Given the description of an element on the screen output the (x, y) to click on. 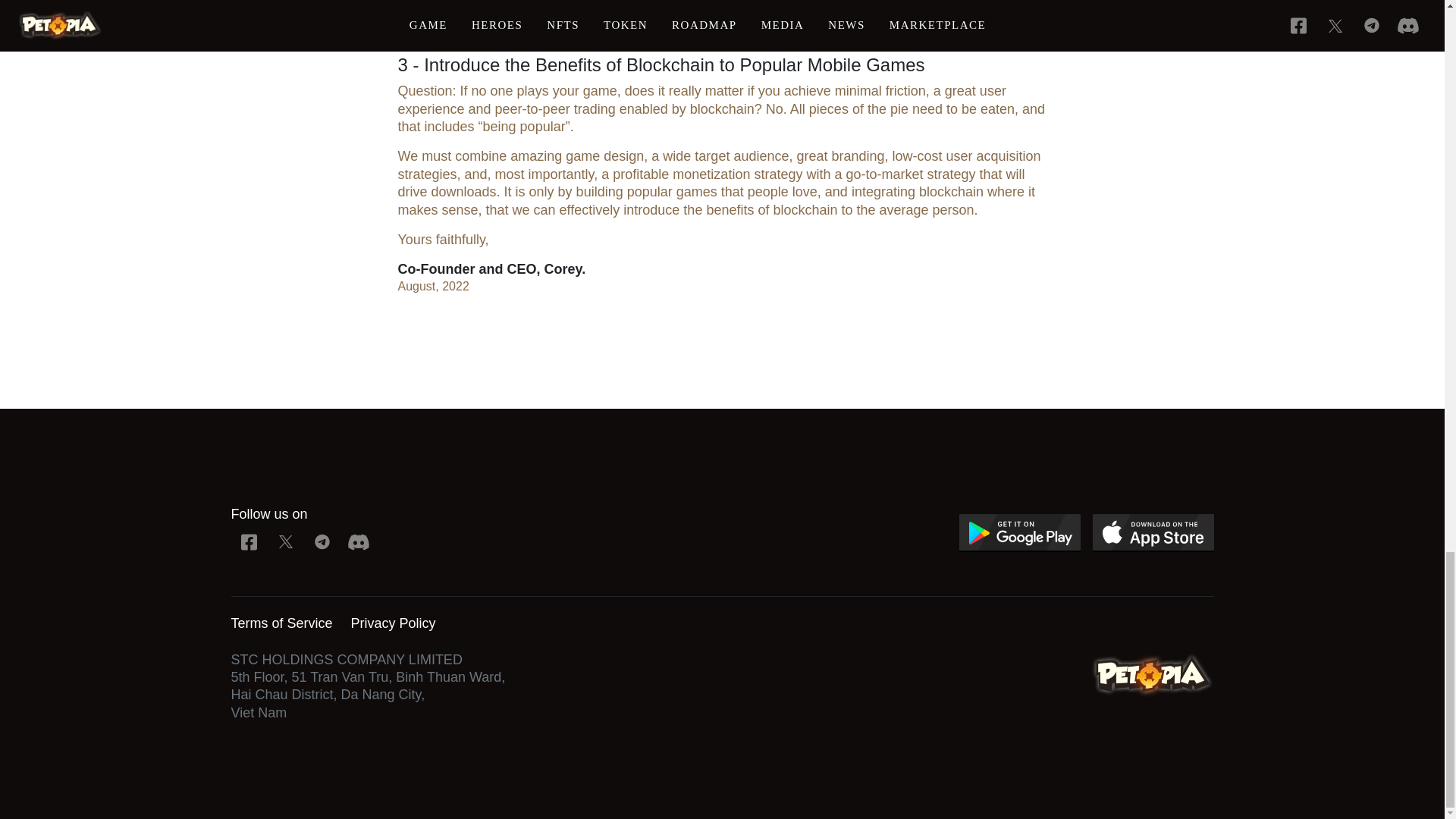
Privacy Policy (392, 623)
Terms of Service (280, 623)
